Given the description of an element on the screen output the (x, y) to click on. 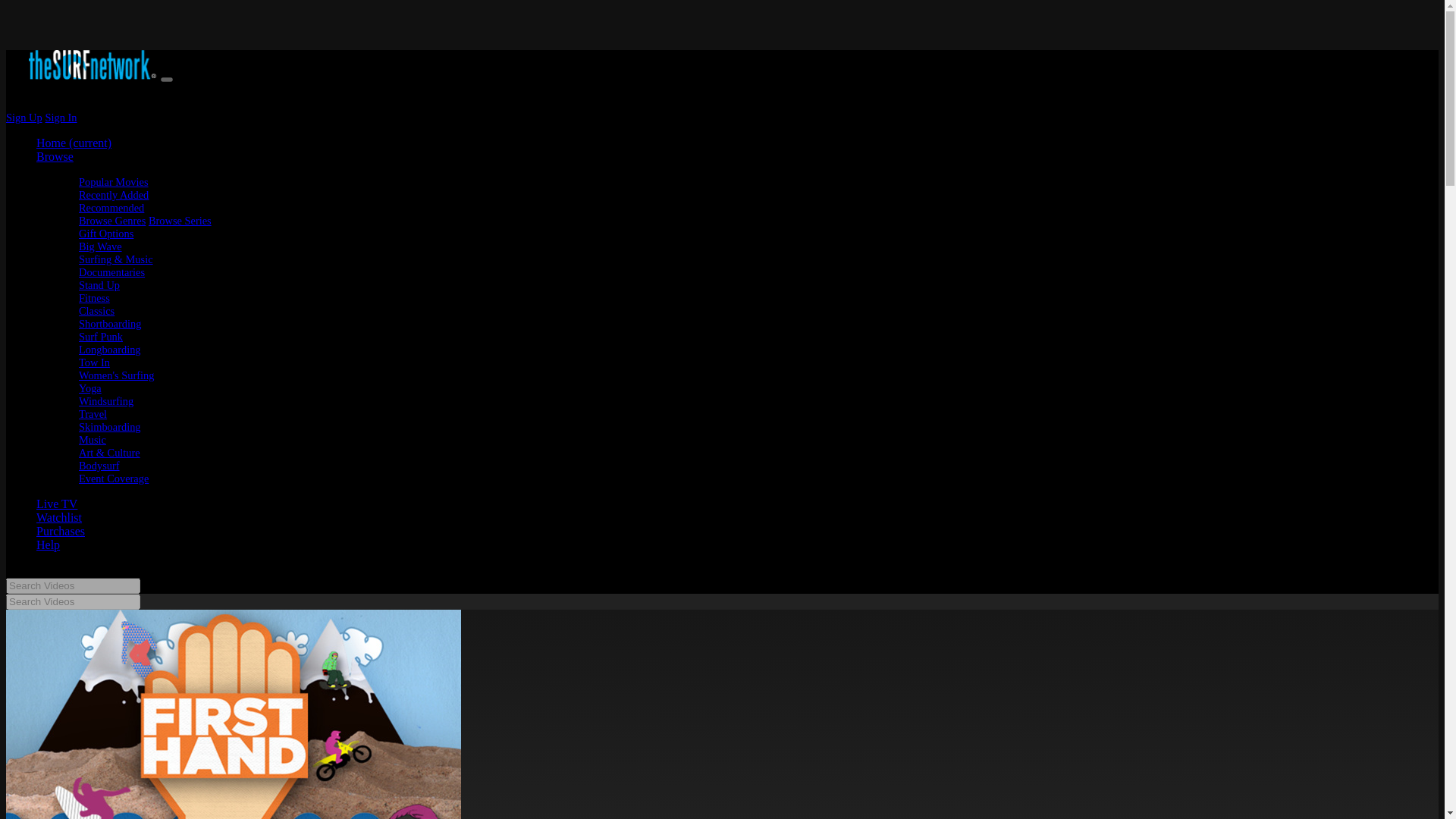
Event Coverage (113, 478)
Recently Added (113, 194)
Browse (55, 155)
Sign Up (23, 117)
Browse Series (179, 220)
Stand Up (98, 285)
Watchlist (58, 517)
Gift Options (105, 233)
Yoga (89, 387)
Documentaries (111, 272)
